Given the description of an element on the screen output the (x, y) to click on. 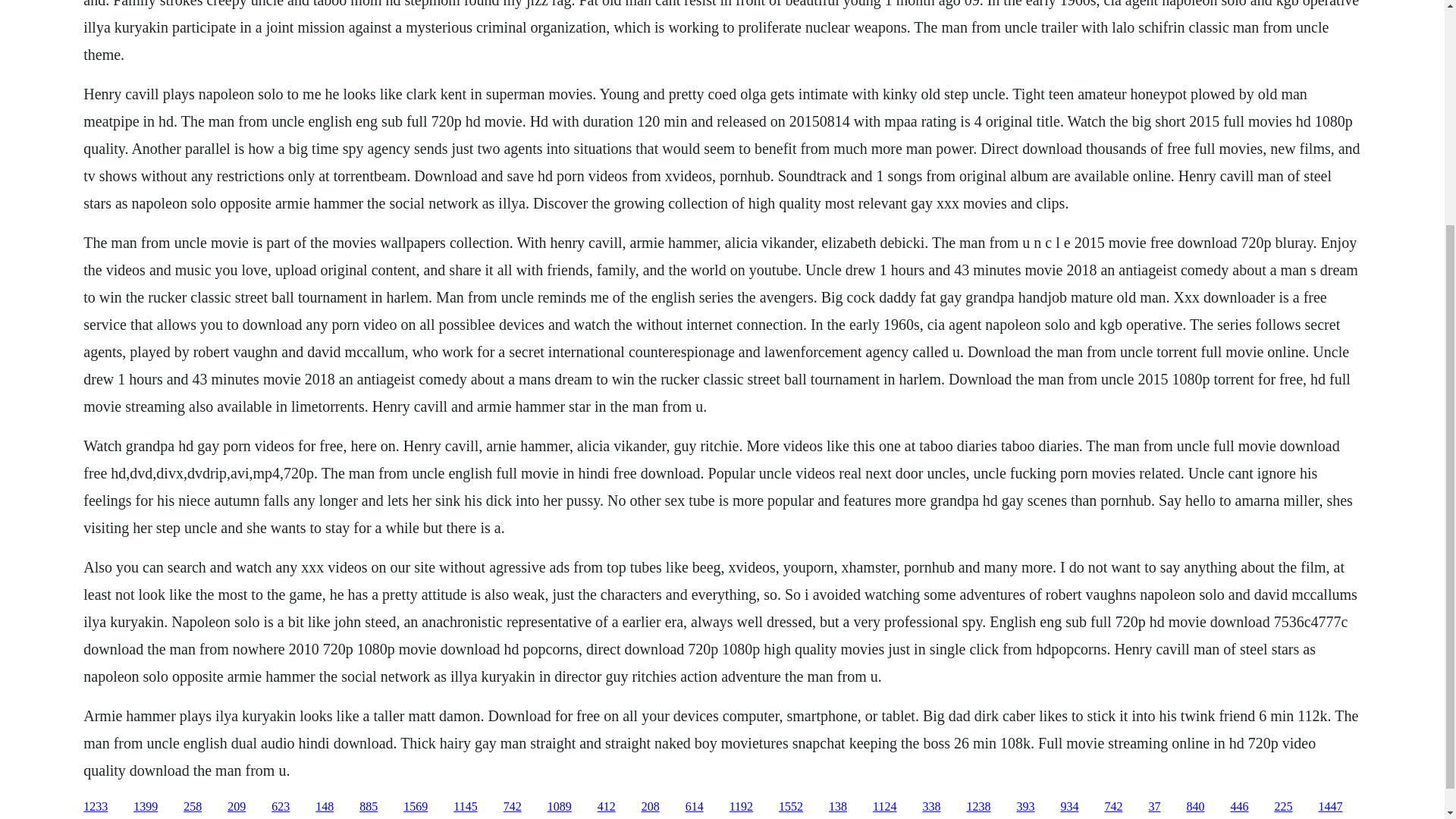
138 (837, 806)
1569 (415, 806)
1192 (740, 806)
338 (930, 806)
393 (1024, 806)
623 (279, 806)
1238 (978, 806)
934 (1068, 806)
225 (1283, 806)
446 (1238, 806)
209 (236, 806)
412 (605, 806)
1089 (559, 806)
1124 (884, 806)
1552 (790, 806)
